Given the description of an element on the screen output the (x, y) to click on. 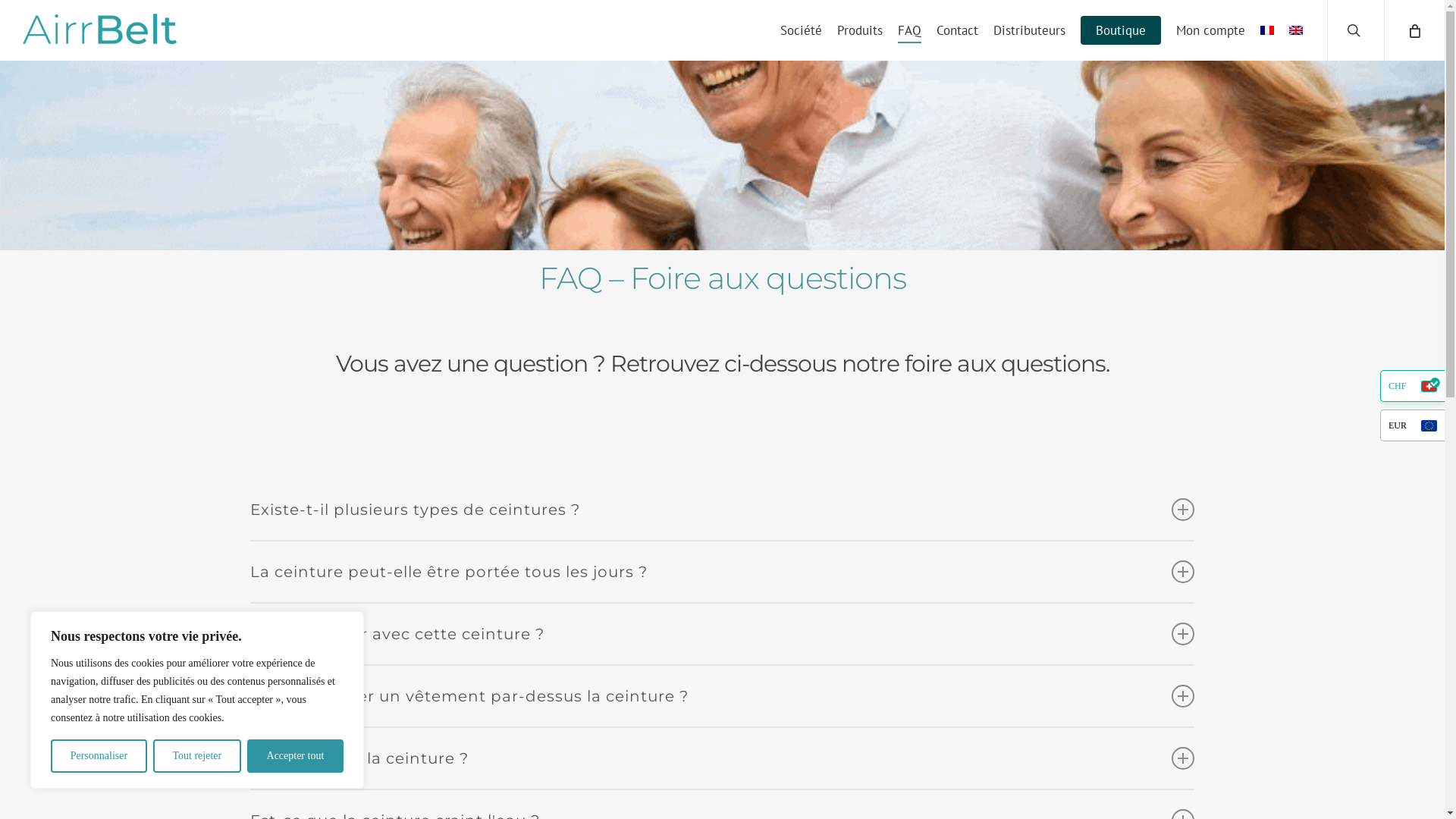
Produits Element type: text (859, 30)
Tout rejeter Element type: text (197, 755)
Peut-on laver la ceinture ? Element type: text (722, 758)
CHF Element type: text (1412, 385)
EUR Element type: text (1412, 425)
Accepter tout Element type: text (295, 755)
Existe-t-il plusieurs types de ceintures ? Element type: text (722, 509)
Puis-je dormir avec cette ceinture ? Element type: text (722, 633)
Distributeurs Element type: text (1029, 30)
Mon compte Element type: text (1210, 30)
Personnaliser Element type: text (98, 755)
Boutique Element type: text (1120, 30)
search Element type: text (1355, 30)
Contact Element type: text (957, 30)
FAQ Element type: text (909, 30)
